Given the description of an element on the screen output the (x, y) to click on. 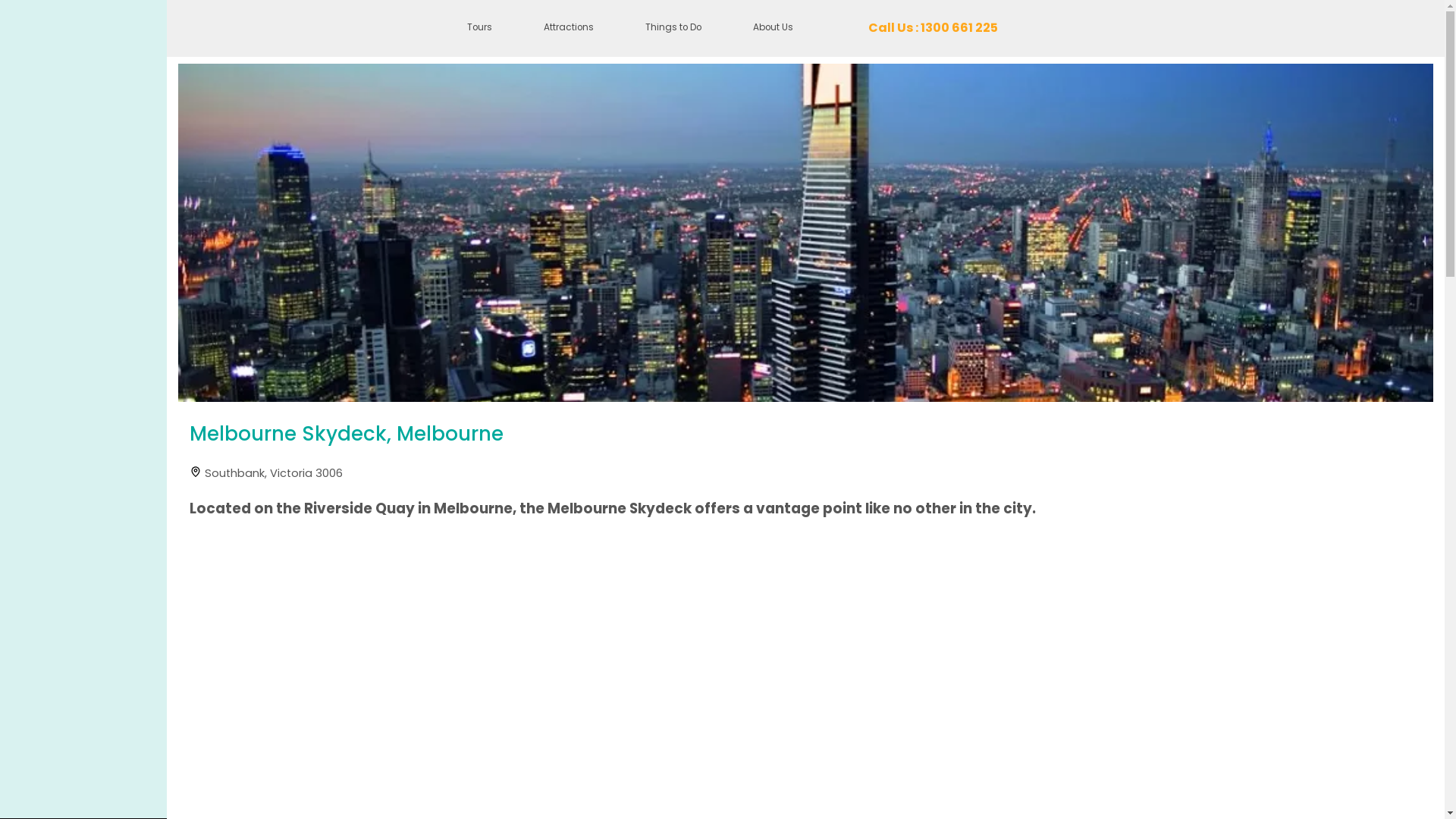
About Us Element type: text (773, 28)
Call Us : 1300 661 225 Element type: text (932, 28)
Attractions Element type: text (568, 28)
Things to Do Element type: text (673, 28)
Tours Element type: text (479, 28)
